Given the description of an element on the screen output the (x, y) to click on. 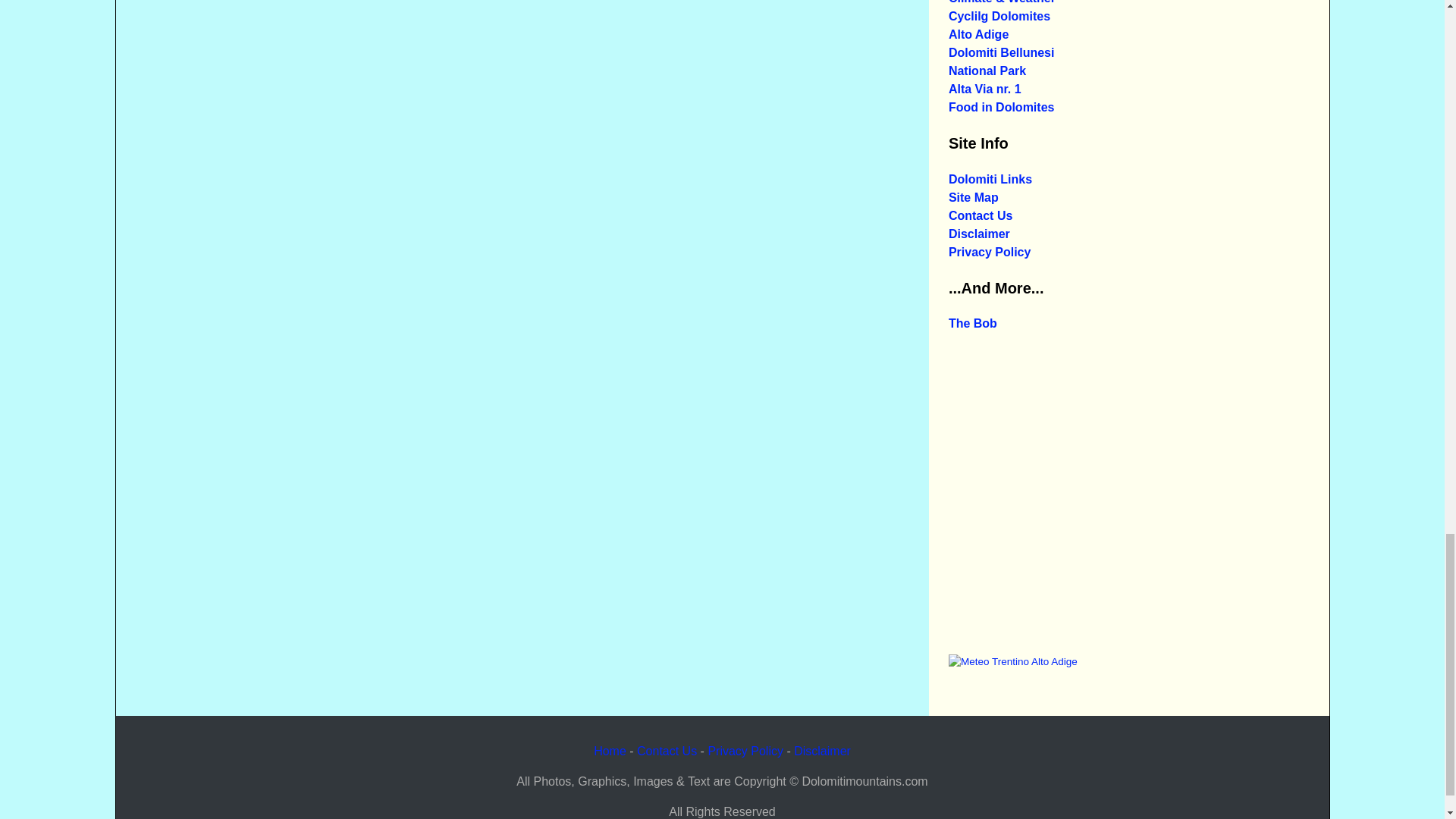
Meteo Trentino Alto Adige (1013, 661)
